Given the description of an element on the screen output the (x, y) to click on. 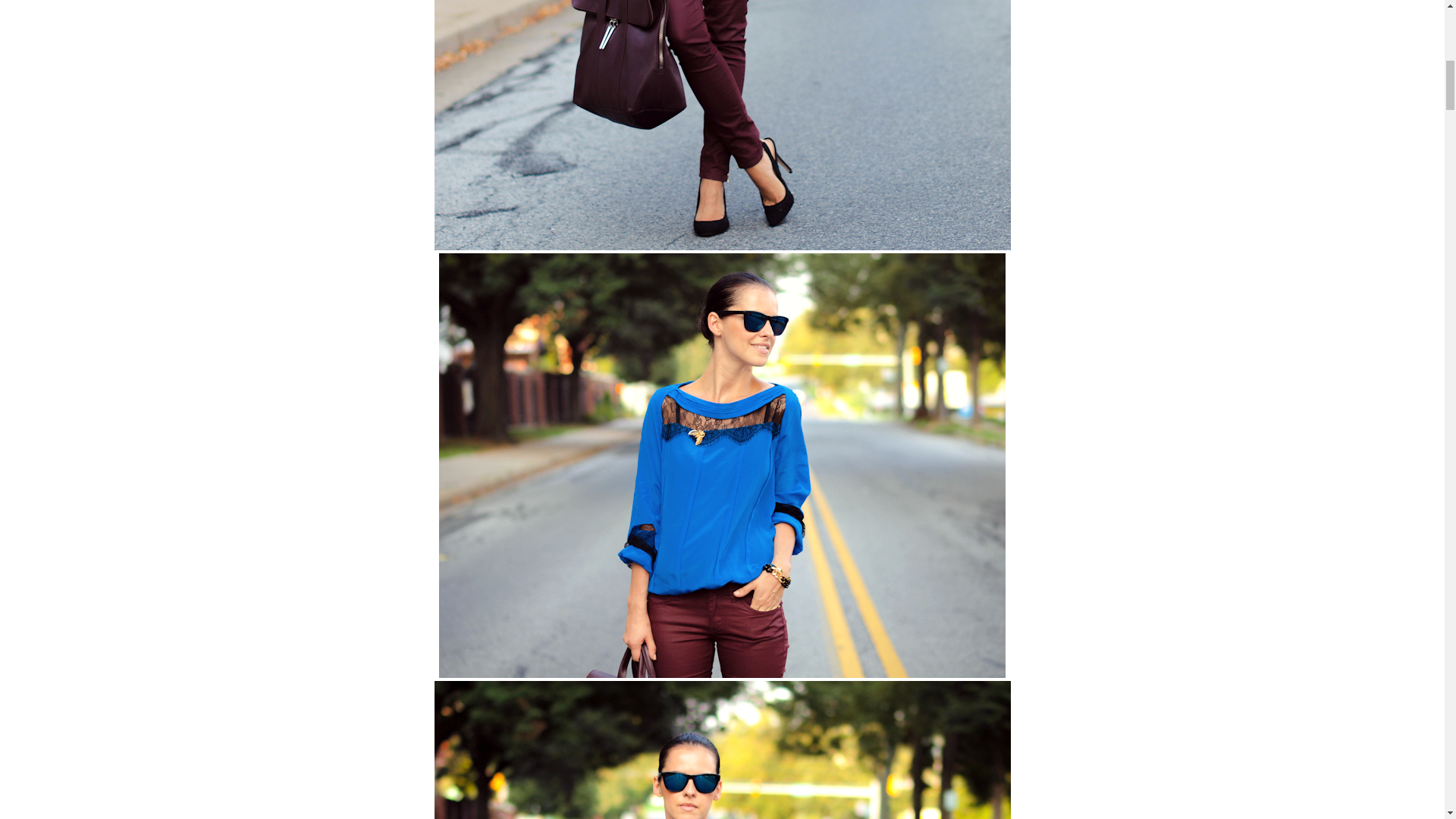
Glimpses of Fall Colors (721, 749)
